Given the description of an element on the screen output the (x, y) to click on. 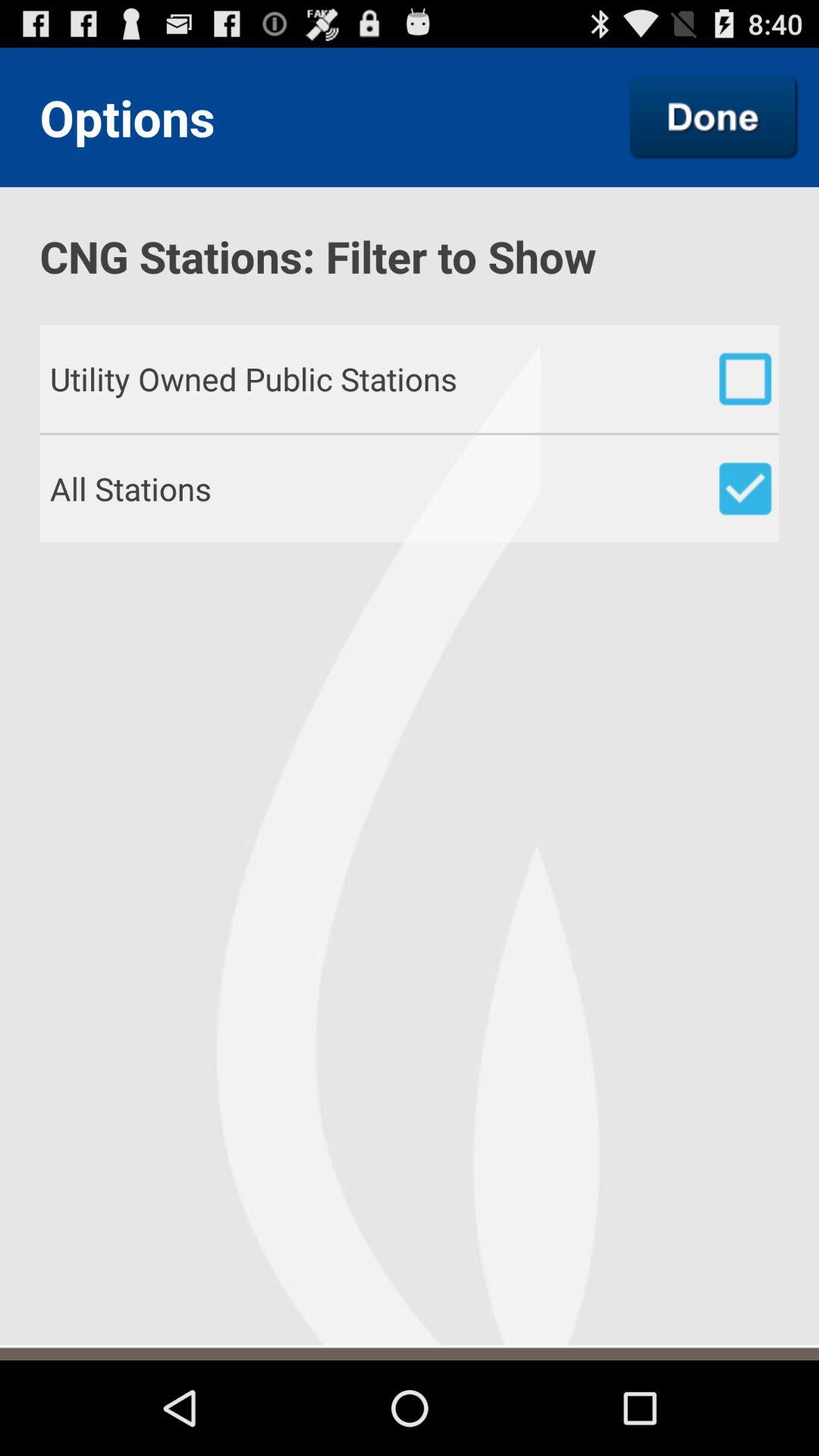
done option (714, 117)
